Given the description of an element on the screen output the (x, y) to click on. 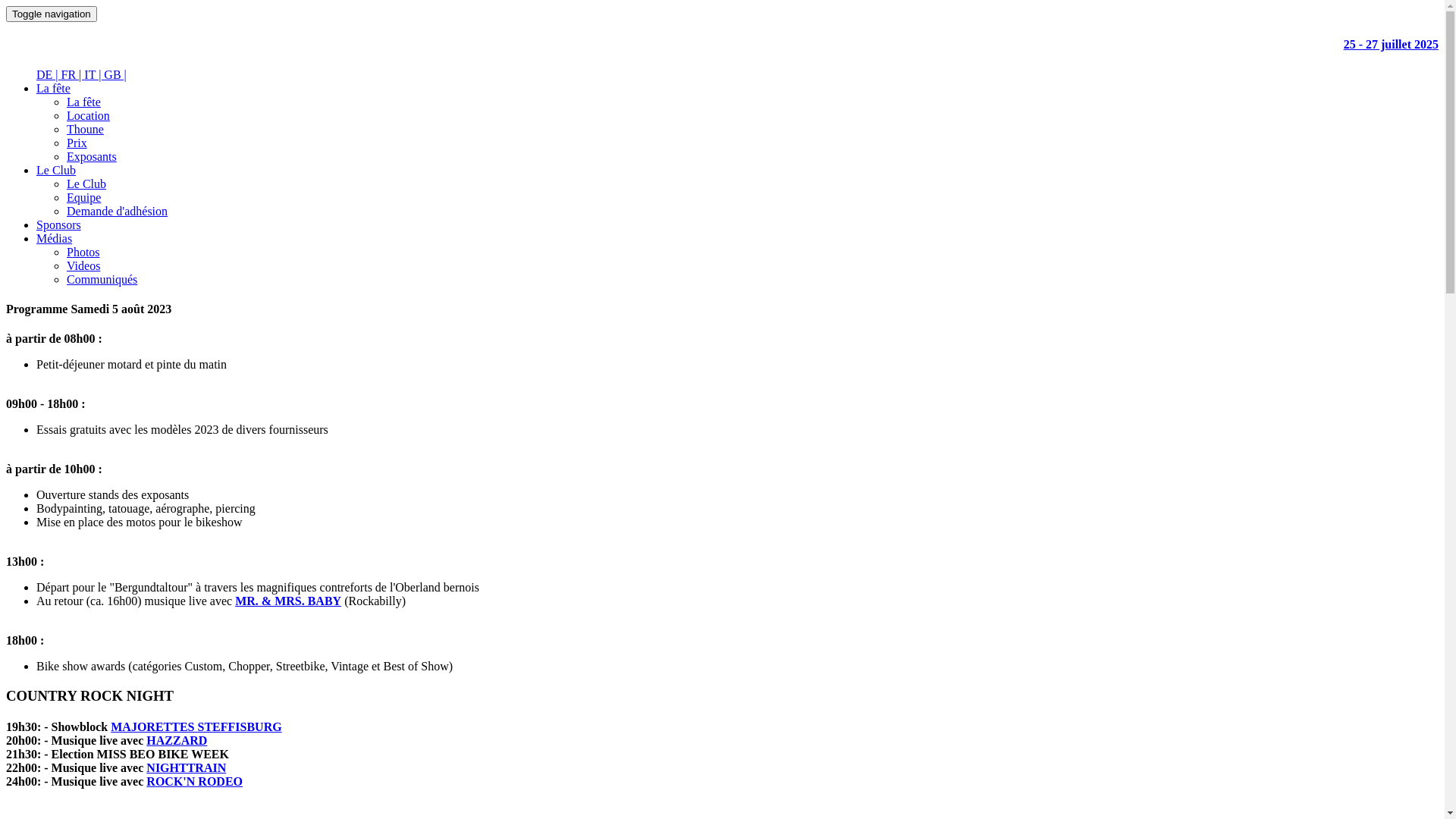
Location Element type: text (87, 115)
GB | Element type: text (114, 74)
FR | Element type: text (72, 74)
Photos Element type: text (83, 251)
NIGHTTRAIN Element type: text (185, 767)
Toggle navigation Element type: text (51, 13)
Sponsors Element type: text (58, 224)
HAZZARD Element type: text (176, 740)
Le Club Element type: text (55, 169)
DE | Element type: text (48, 74)
Prix Element type: text (76, 142)
Equipe Element type: text (83, 197)
MR. & MRS. BABY Element type: text (288, 600)
25 - 27 juillet 2025 Element type: text (722, 44)
ROCK'N RODEO Element type: text (194, 781)
MAJORETTES STEFFISBURG Element type: text (195, 726)
IT | Element type: text (93, 74)
Videos Element type: text (83, 265)
Thoune Element type: text (84, 128)
Le Club Element type: text (86, 183)
Exposants Element type: text (91, 156)
